Given the description of an element on the screen output the (x, y) to click on. 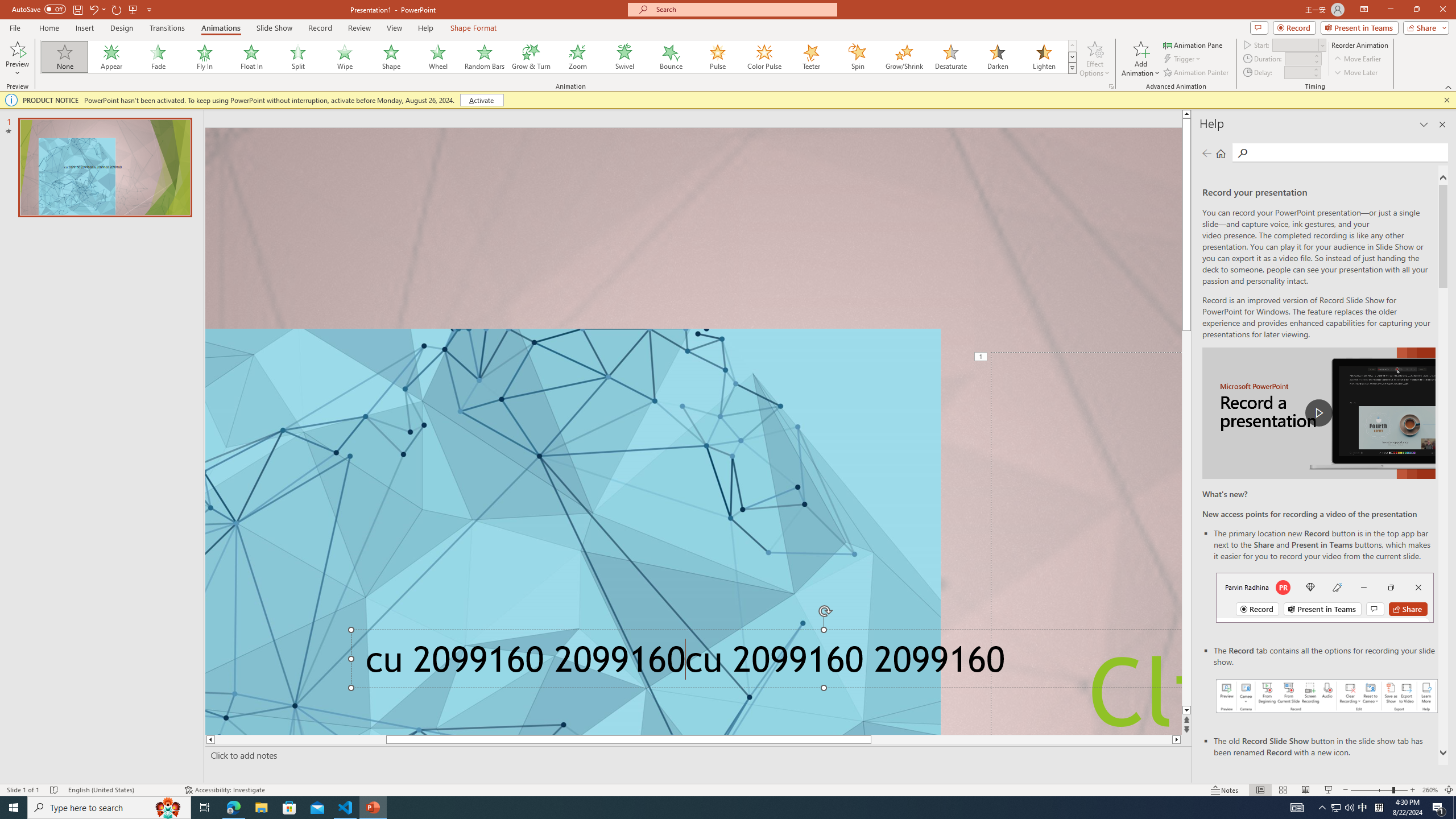
Grow/Shrink (903, 56)
An abstract genetic concept (693, 430)
Title TextBox (1086, 543)
Fade (158, 56)
Color Pulse (764, 56)
play Record a Presentation (1318, 412)
Bounce (670, 56)
Close this message (1446, 99)
